Given the description of an element on the screen output the (x, y) to click on. 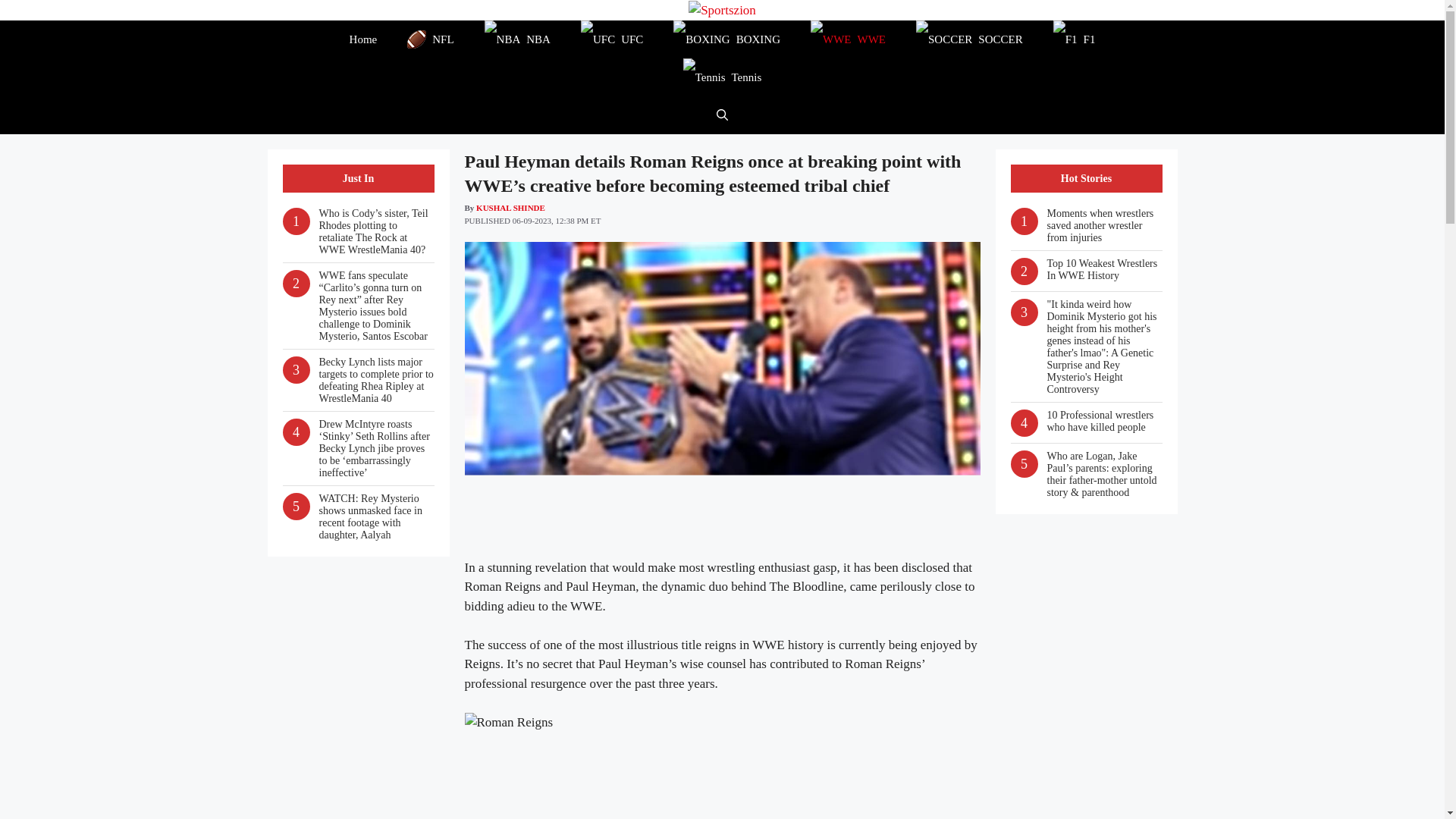
Home (363, 39)
SOCCER (969, 39)
UFC (612, 39)
WWE (847, 39)
KUSHAL SHINDE (510, 207)
NFL (429, 39)
NBA (517, 39)
F1 (1074, 39)
BOXING (726, 39)
Tennis (722, 77)
